Given the description of an element on the screen output the (x, y) to click on. 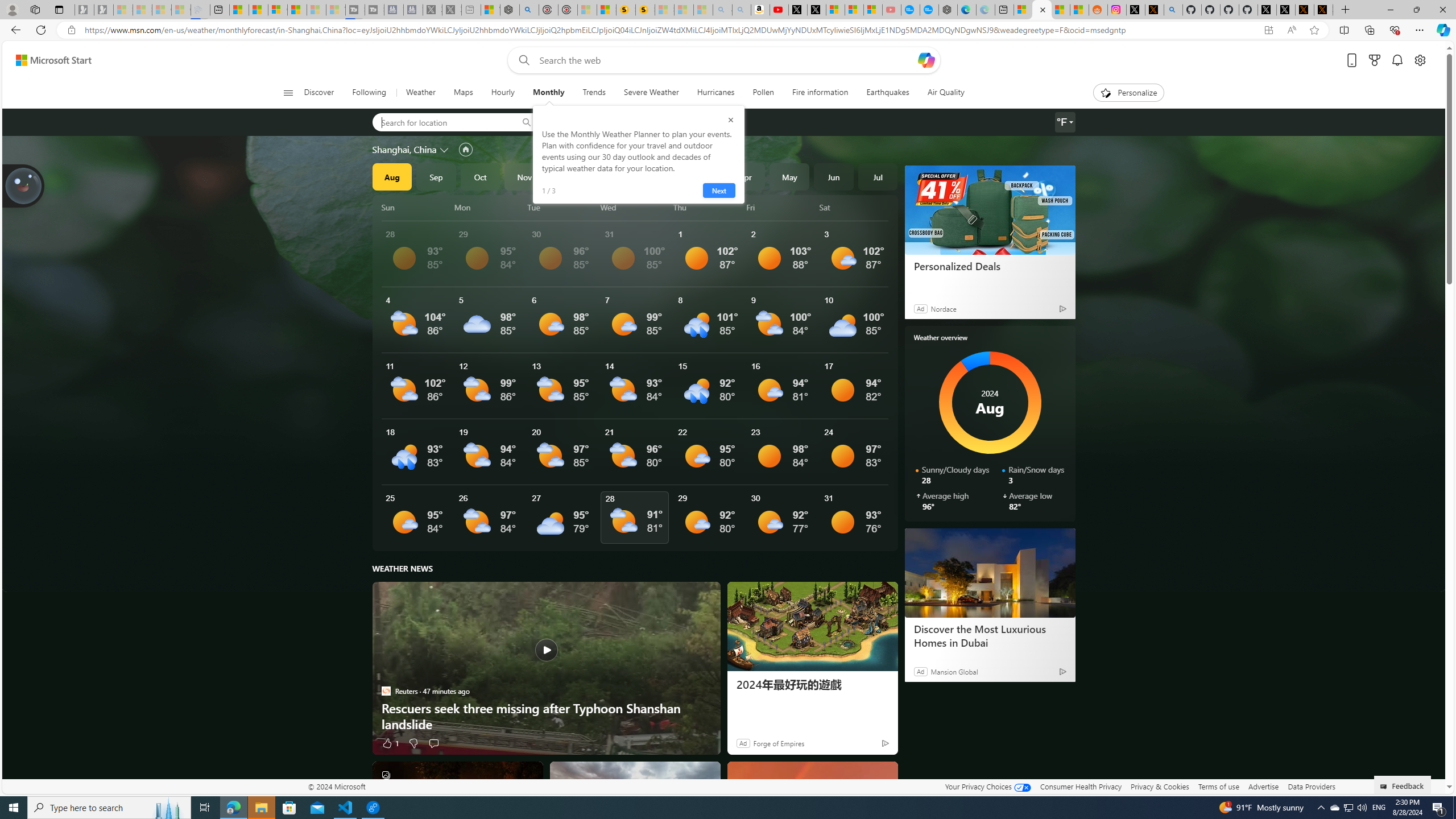
X Privacy Policy (1323, 9)
Microsoft account | Microsoft Account Privacy Settings (1022, 9)
Fire information (820, 92)
Consumer Health Privacy (1080, 785)
Apr (745, 176)
